Given the description of an element on the screen output the (x, y) to click on. 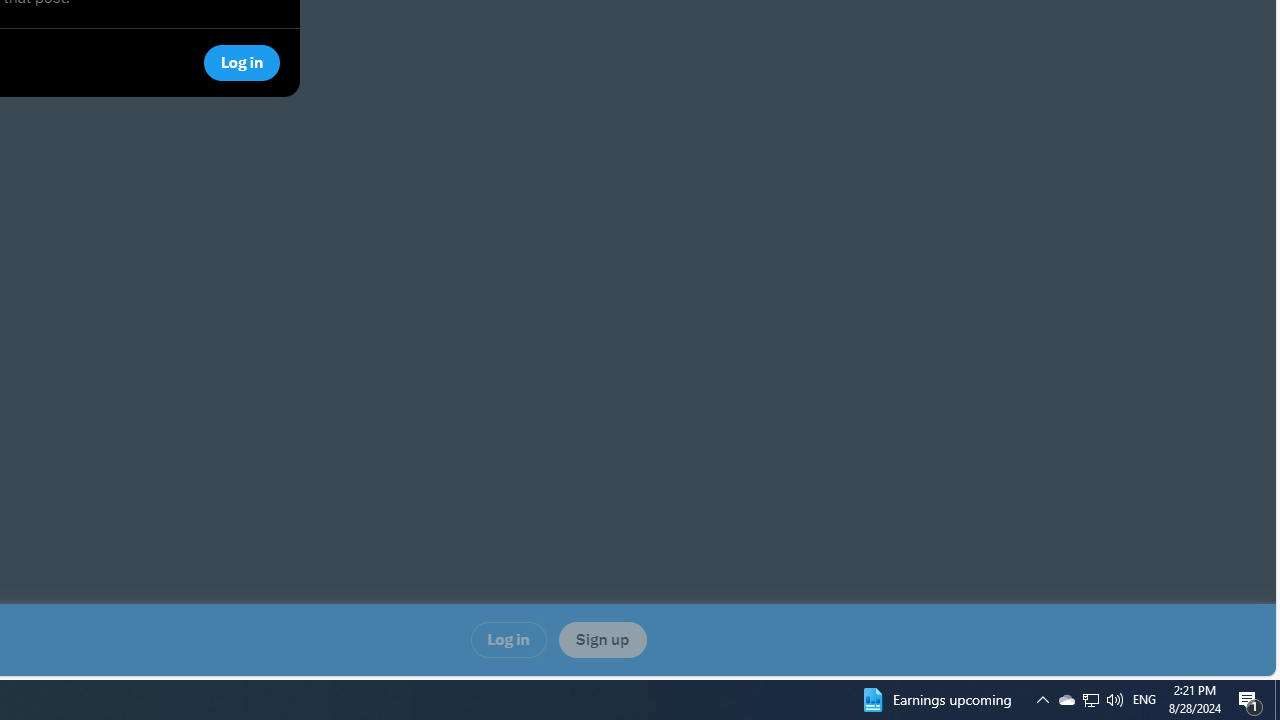
Sign up (602, 640)
Log in (507, 640)
